Given the description of an element on the screen output the (x, y) to click on. 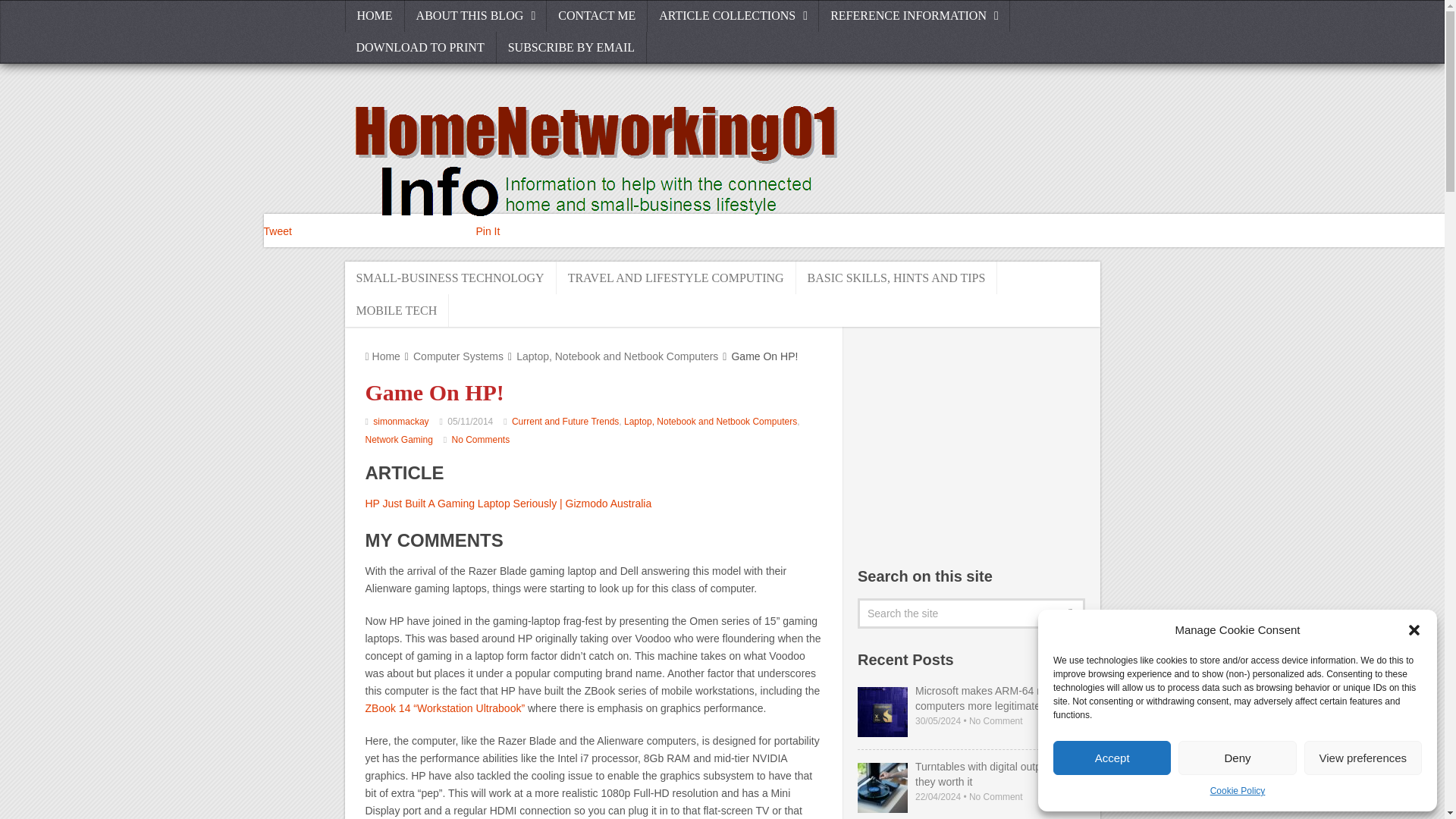
Microsoft makes ARM-64 regular computers more legitimate (970, 698)
ARTICLE COLLECTIONS (732, 15)
Cookie Policy (1237, 791)
ABOUT THIS BLOG (475, 15)
SUBSCRIBE BY EMAIL (571, 47)
HOME (373, 15)
View preferences (1363, 757)
CONTACT ME (597, 15)
Deny (1236, 757)
DOWNLOAD TO PRINT (419, 47)
View all posts in Network Gaming (398, 439)
Microsoft makes ARM-64 regular computers more legitimate (882, 712)
View all posts in Current and Future Trends (565, 421)
Posts by simonmackay (400, 421)
Advertisement (970, 444)
